Given the description of an element on the screen output the (x, y) to click on. 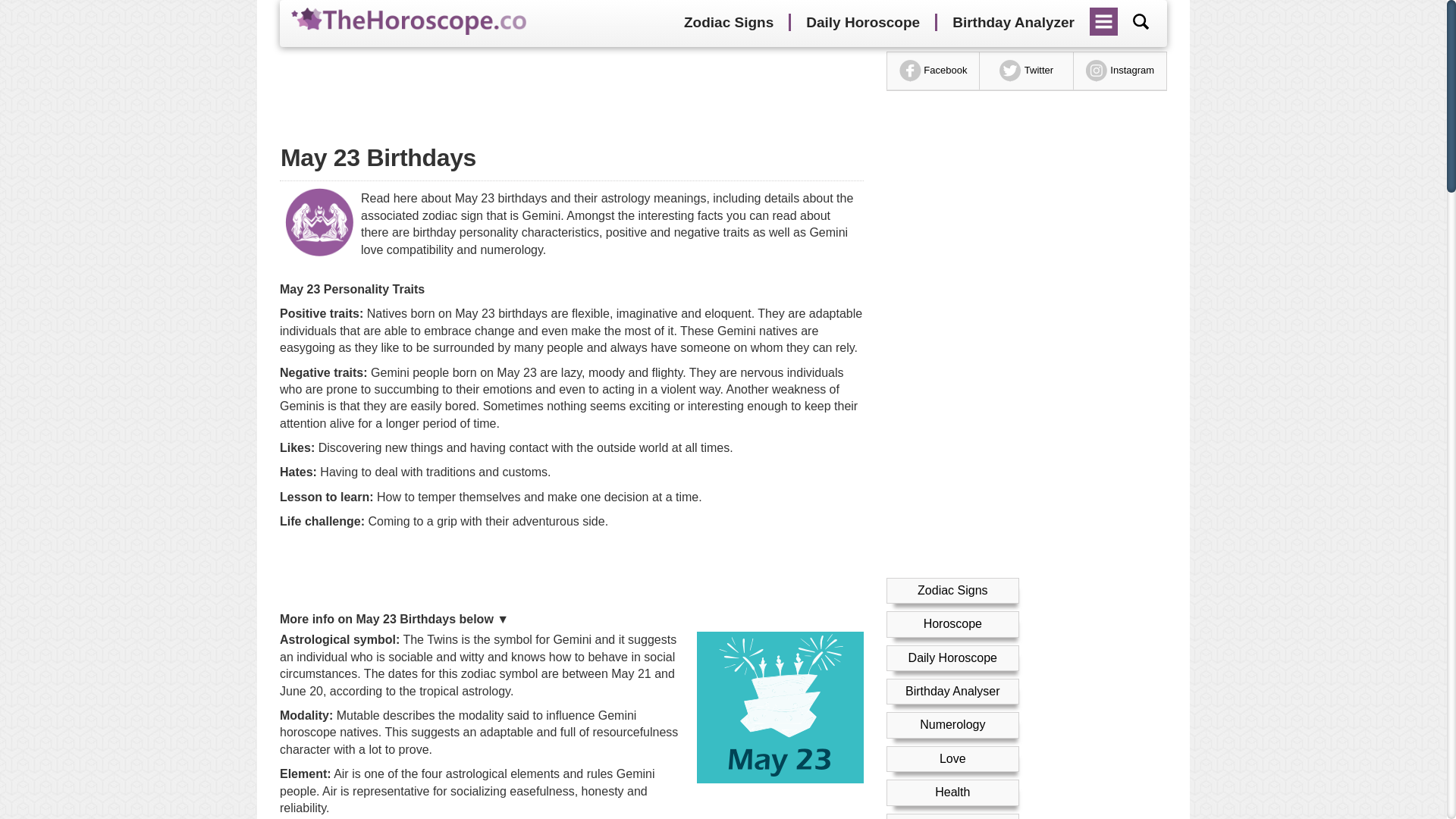
Daily Horoscope (862, 22)
Menu (1104, 16)
Advertisement (571, 88)
Birthday Analyzer (1013, 22)
Search by your birthday... (1140, 21)
Advertisement (571, 572)
Zodiac Signs (728, 22)
